Given the description of an element on the screen output the (x, y) to click on. 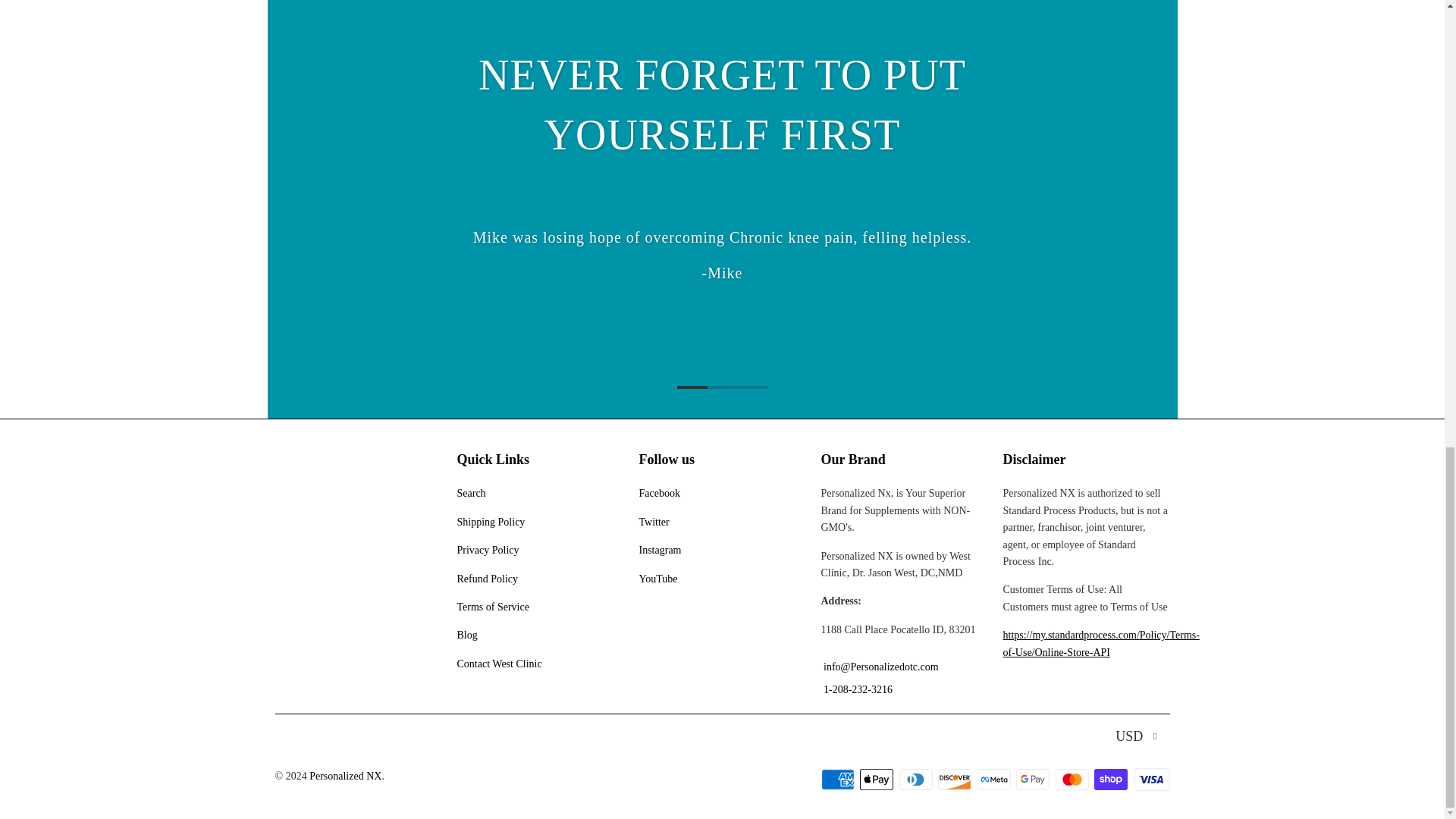
Visa (1150, 779)
Google Pay (1034, 779)
Mastercard (1073, 779)
Discover (955, 779)
Meta Pay (994, 779)
American Express (839, 779)
Diners Club (917, 779)
Shop Pay (1112, 779)
Apple Pay (878, 779)
